Given the description of an element on the screen output the (x, y) to click on. 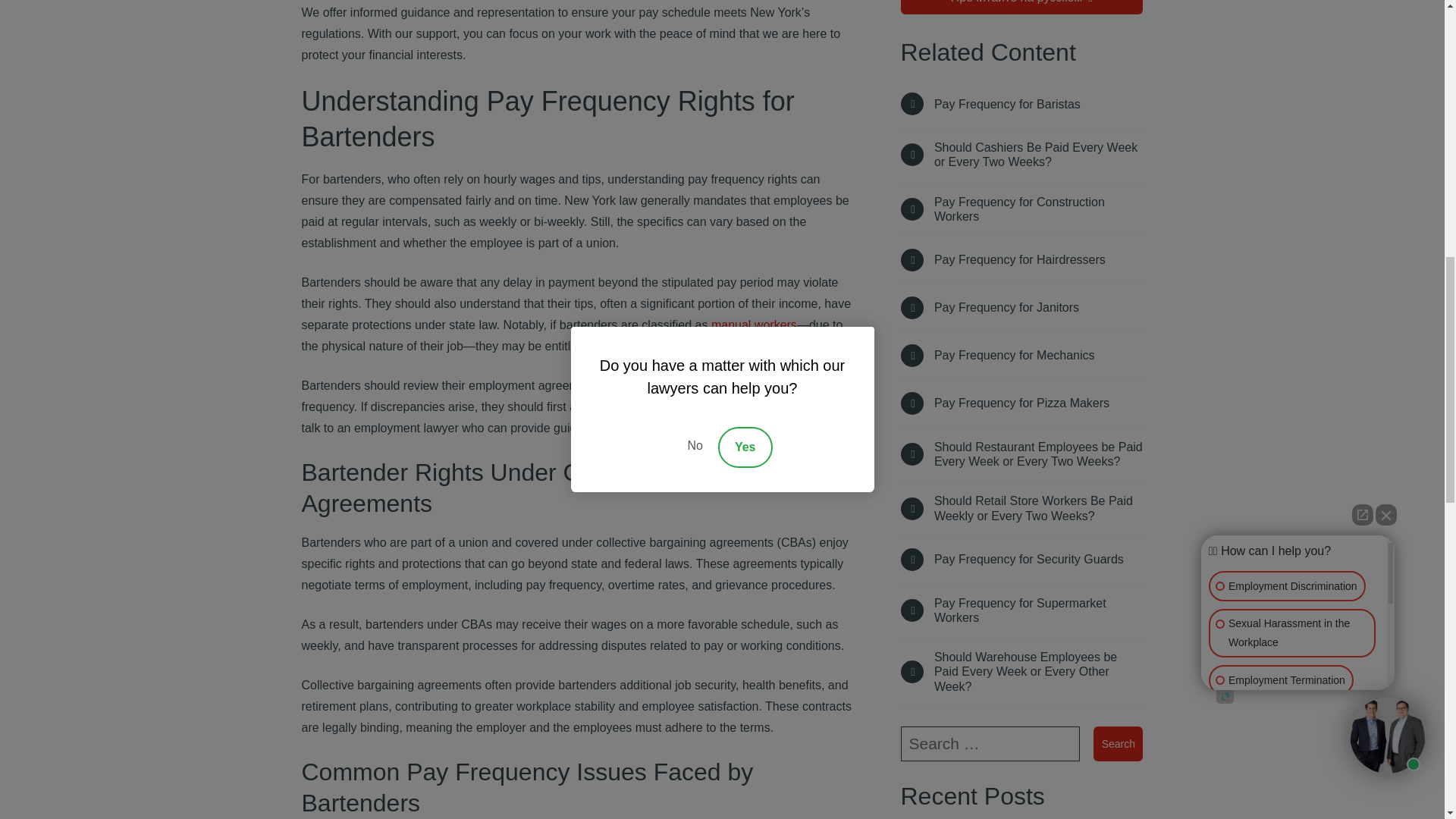
Search for: (990, 743)
Search (1117, 743)
Search (1117, 743)
